Given the description of an element on the screen output the (x, y) to click on. 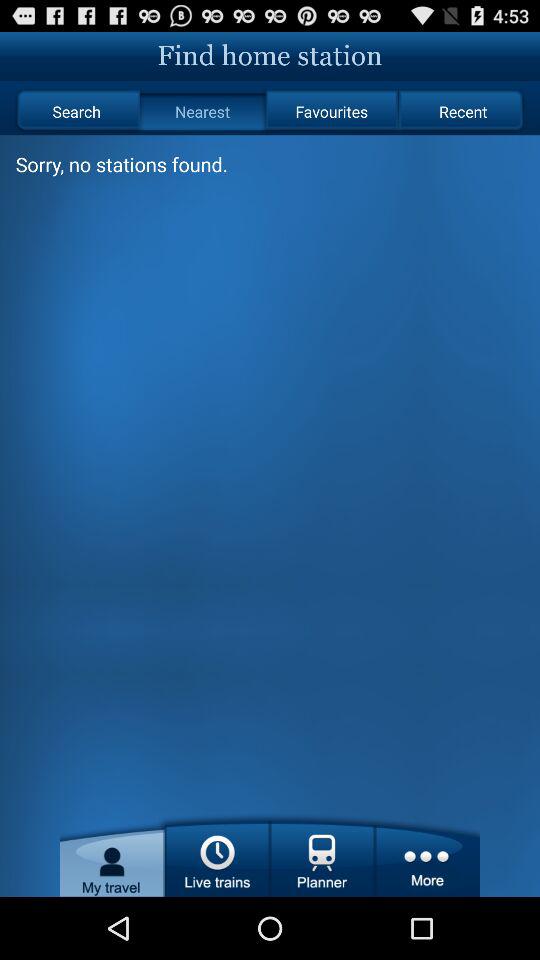
turn on recent at the top right corner (462, 111)
